Given the description of an element on the screen output the (x, y) to click on. 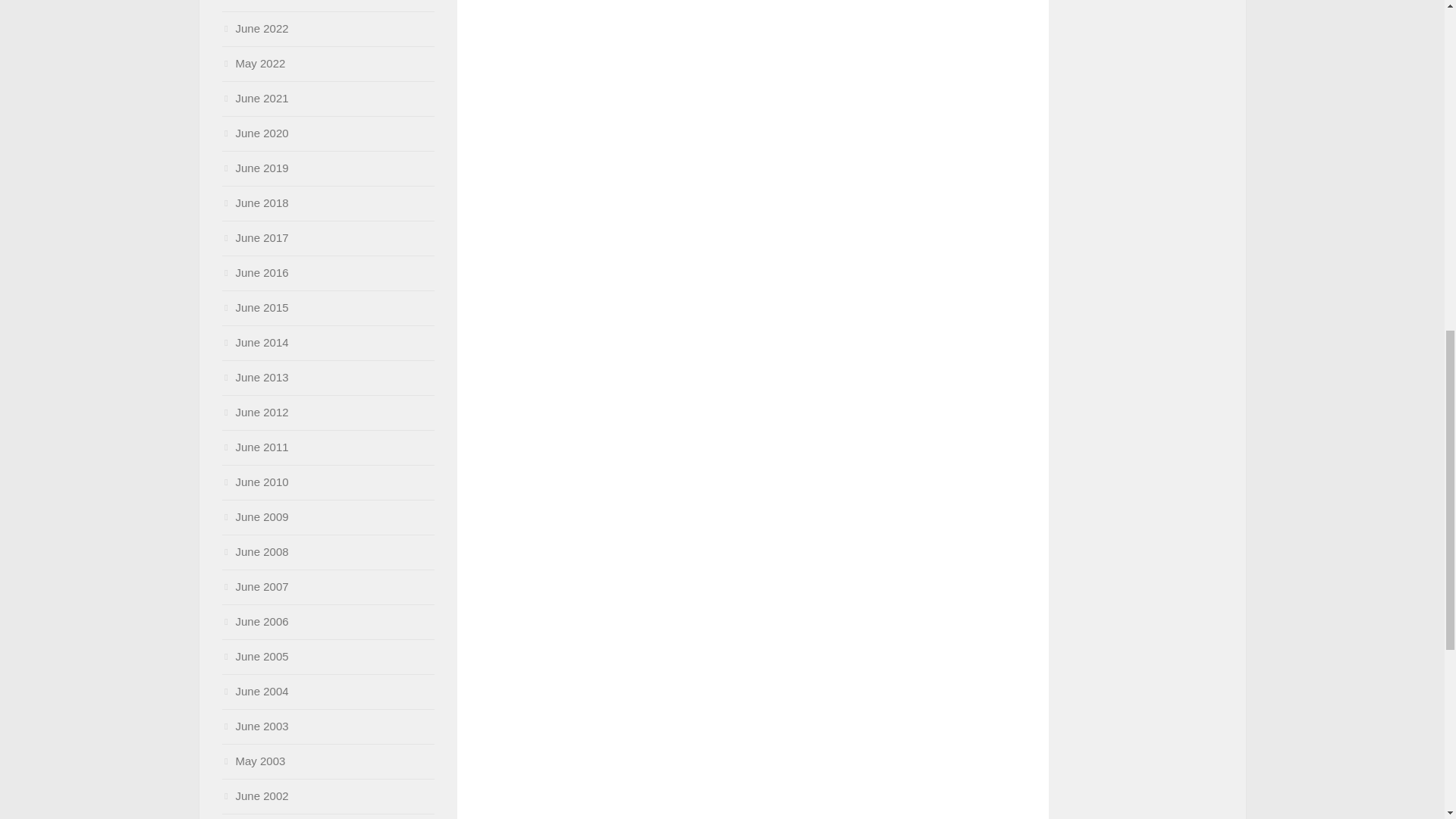
June 2011 (254, 446)
June 2008 (254, 551)
June 2010 (254, 481)
June 2020 (254, 132)
June 2009 (254, 516)
June 2005 (254, 656)
June 2015 (254, 307)
June 2006 (254, 621)
June 2018 (254, 202)
June 2004 (254, 690)
June 2017 (254, 237)
June 2002 (254, 795)
June 2012 (254, 411)
June 2021 (254, 97)
June 2019 (254, 167)
